Given the description of an element on the screen output the (x, y) to click on. 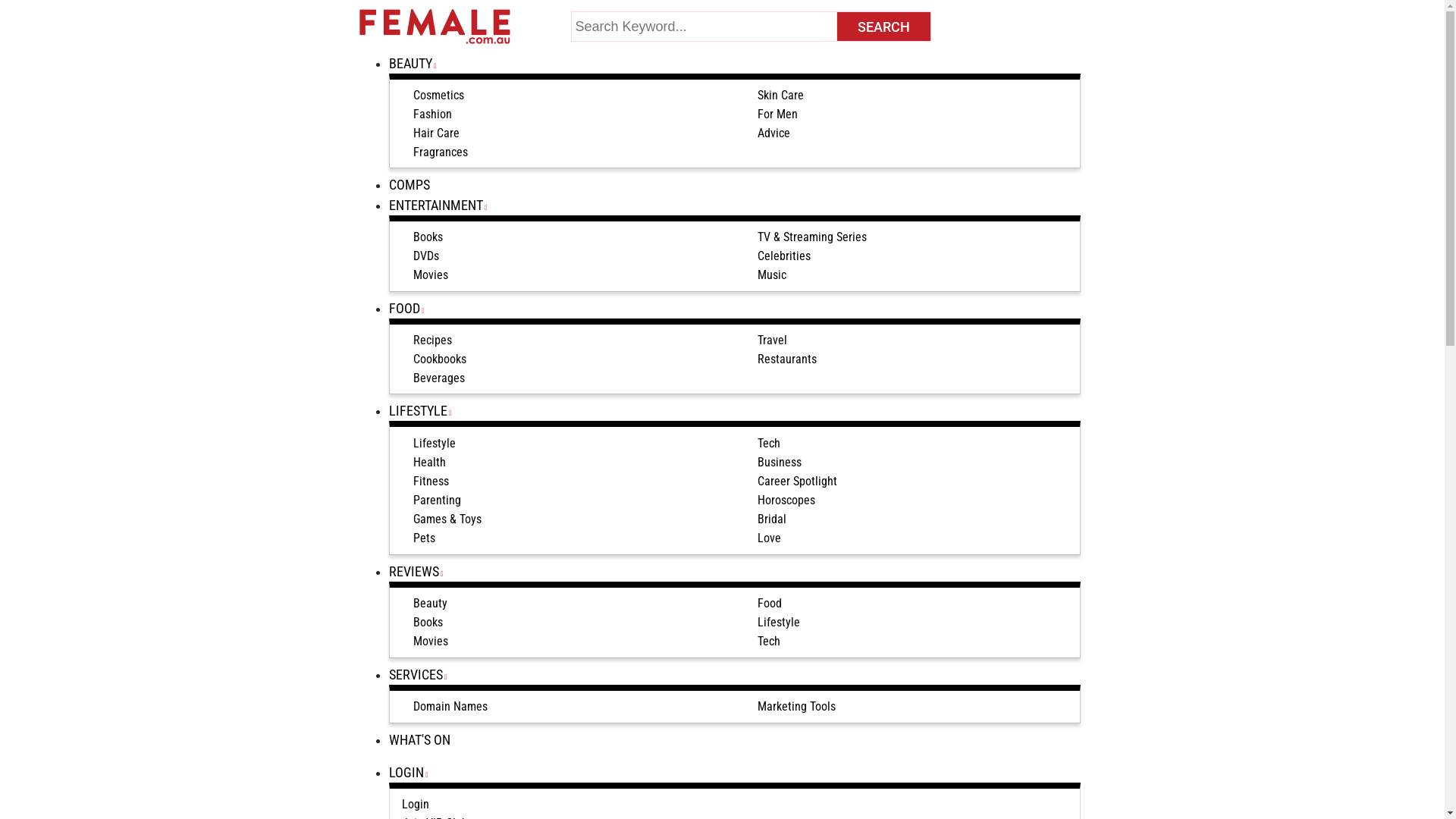
Fashion Element type: text (431, 114)
Parenting Element type: text (436, 500)
Home Element type: text (373, 114)
WHAT'S ON Element type: text (424, 739)
Bridal Element type: text (770, 519)
Tech Element type: text (767, 443)
MORE   Element type: text (1065, 208)
Skin Care Element type: text (779, 95)
Health Element type: text (428, 462)
Win 14K Gold Vermeil Hoops with charms valued at $249.00 Element type: text (1004, 443)
DVDs Element type: text (425, 256)
Beauty Element type: text (429, 603)
Beverages Element type: text (438, 378)
Love Element type: text (768, 538)
Marketing Tools Element type: text (795, 706)
LOGIN Element type: text (412, 772)
SERVICES Element type: text (422, 674)
Hair Care Element type: text (435, 133)
Celebrities Element type: text (782, 256)
Share Element type: text (468, 241)
Win one of 10 x Two Tickets to Greece Movie Tickets. Element type: text (994, 250)
Music Element type: text (391, 151)
FOOD Element type: text (410, 308)
Recipes Element type: text (431, 340)
Domain Names Element type: text (449, 706)
Advice Element type: text (772, 133)
Career Spotlight Element type: text (796, 481)
Books Element type: text (427, 237)
Restaurants Element type: text (785, 359)
LIFESTYLE Element type: text (424, 410)
TV & Streaming Series Element type: text (811, 237)
Login Element type: text (415, 804)
Food Element type: text (768, 603)
Travel Element type: text (771, 340)
  Prev Article Element type: text (395, 292)
ENTERTAINMENT Element type: text (442, 205)
Pets Element type: text (423, 538)
Share Element type: text (523, 241)
Next Article   Element type: text (797, 292)
Cookbooks Element type: text (438, 359)
Cosmetics Element type: text (437, 95)
Win a The Cat in the Hat family pass of five people. Element type: text (996, 346)
Share Element type: text (425, 241)
BEAUTY Element type: text (416, 63)
COMPS Element type: text (414, 184)
Share Element type: text (382, 241)
Lifestyle Element type: text (433, 443)
REVIEWS Element type: text (420, 571)
Lifestyle Element type: text (777, 622)
Games & Toys Element type: text (446, 519)
Entertainment Element type: text (414, 132)
COMPETITIONS Element type: text (907, 207)
Movies Element type: text (429, 641)
Business Element type: text (778, 462)
SEARCH Element type: text (884, 26)
Movies Element type: text (429, 275)
Fitness Element type: text (430, 481)
Books Element type: text (427, 622)
Tech Element type: text (767, 641)
For Men Element type: text (776, 114)
Fragrances Element type: text (439, 152)
Music Element type: text (770, 275)
SEARCH Element type: hover (884, 26)
Horoscopes Element type: text (785, 500)
